Given the description of an element on the screen output the (x, y) to click on. 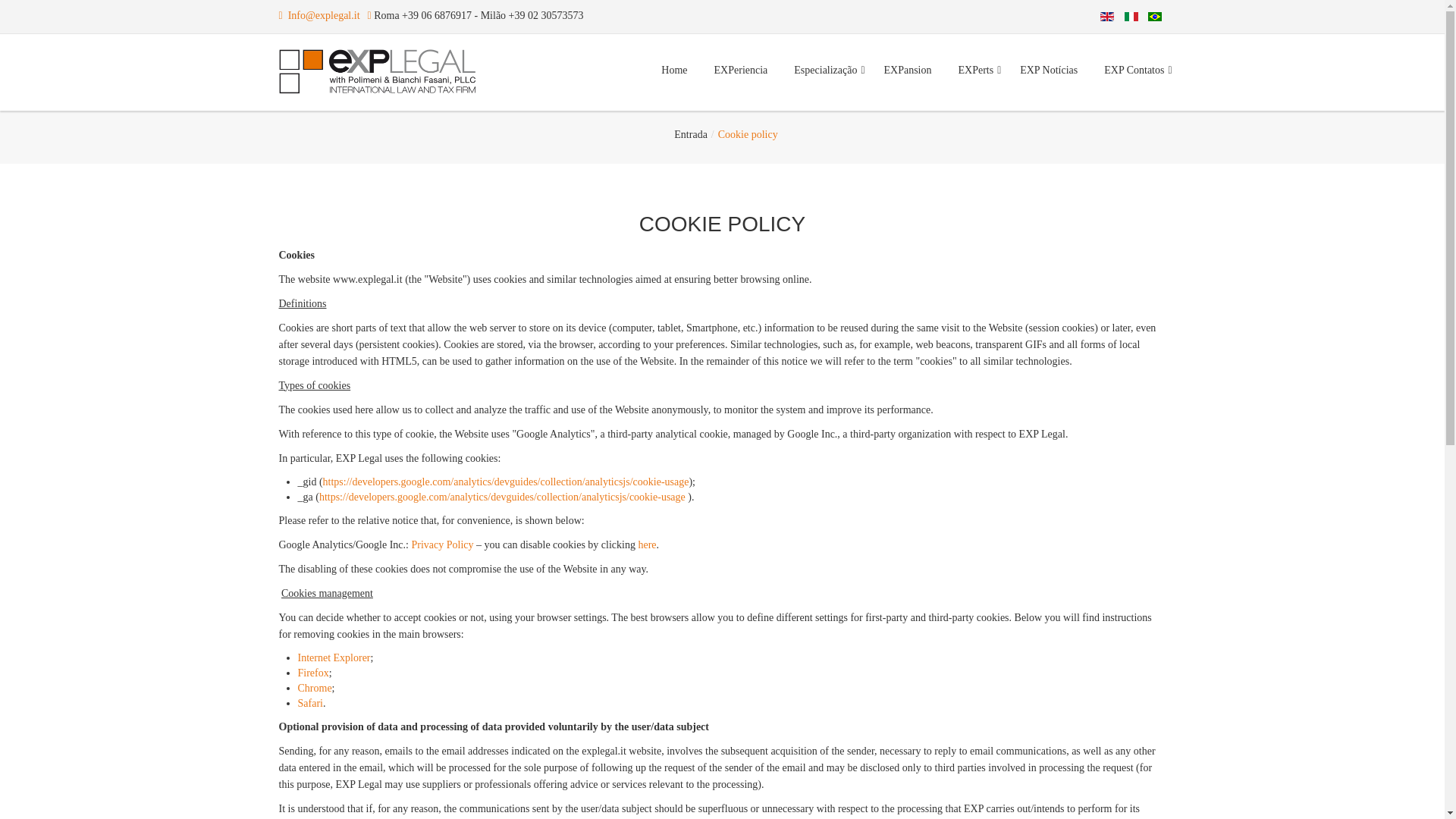
EXPansion (907, 70)
Home (673, 70)
EXPerts (975, 70)
EXPeriencia (740, 70)
